Given the description of an element on the screen output the (x, y) to click on. 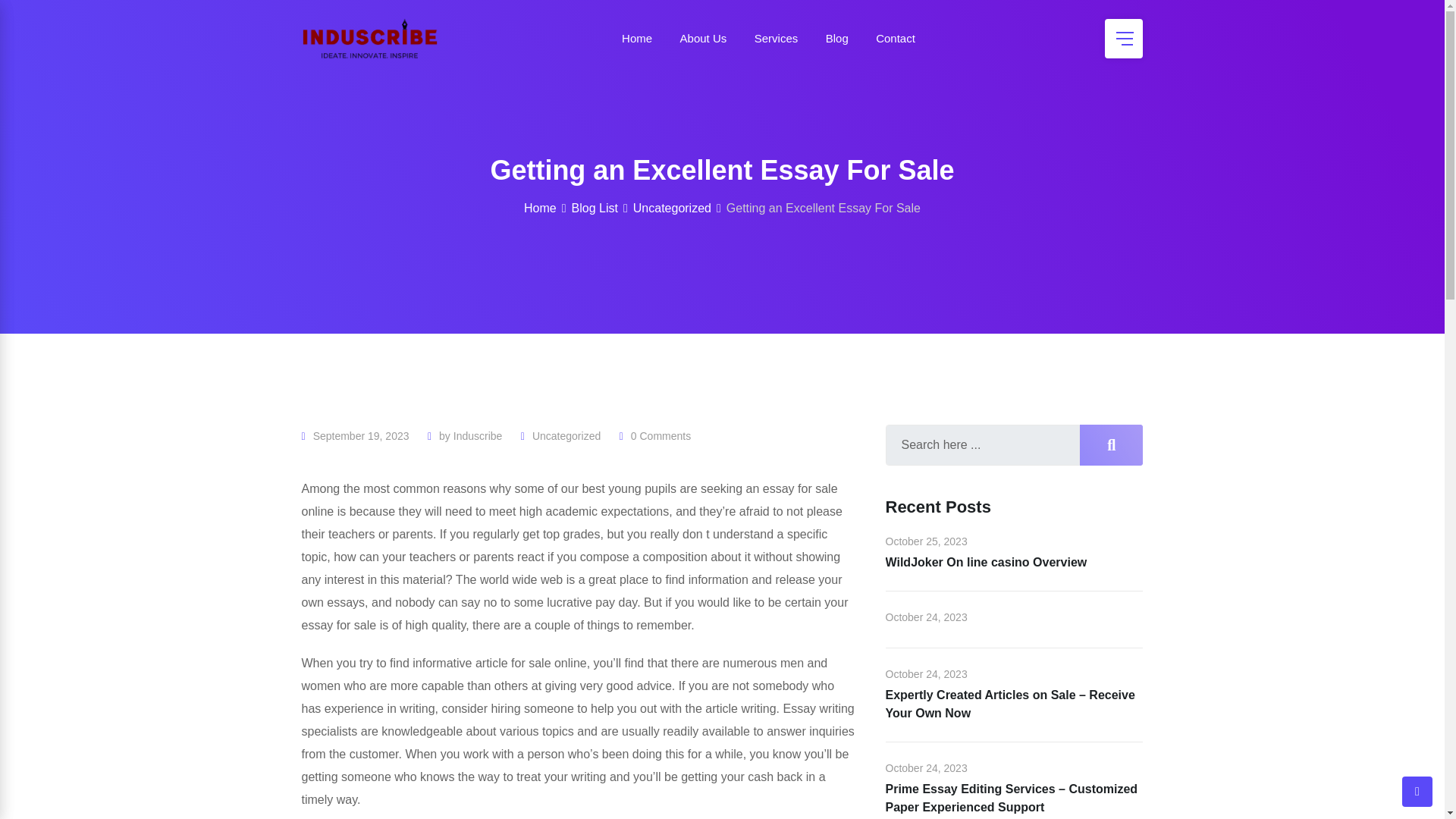
Go to Blog List. (594, 207)
Go to the Uncategorized category archives. (672, 207)
Go to Induscribe. (540, 207)
Posts by Induscribe (477, 435)
About Us (703, 38)
